Given the description of an element on the screen output the (x, y) to click on. 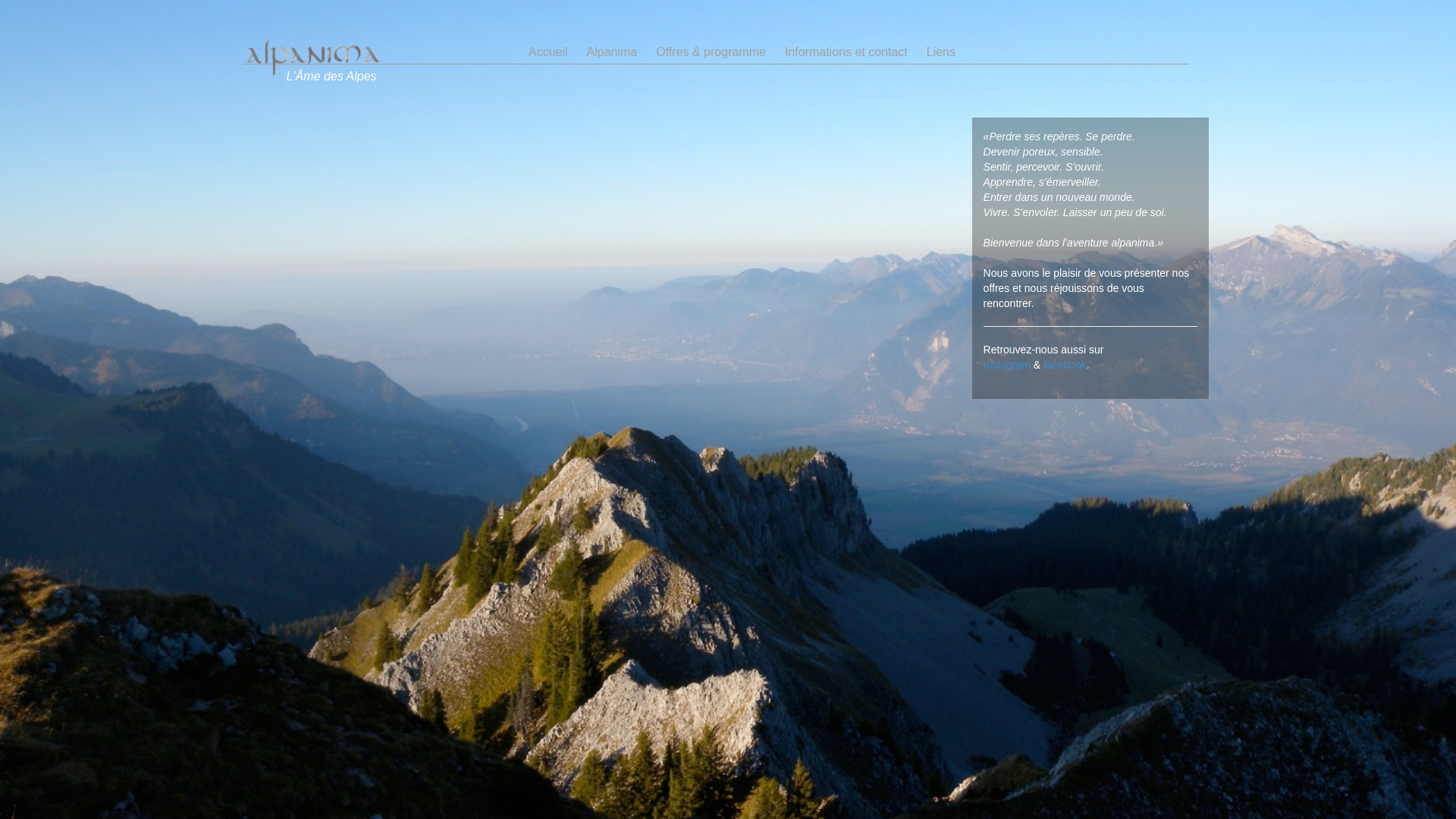
Offres & programme Element type: text (710, 51)
Liens Element type: text (940, 51)
Accueil Element type: text (547, 51)
Instagram Element type: text (1006, 364)
Informations et contact Element type: text (845, 51)
Alpanima Element type: text (611, 51)
facebook Element type: text (1064, 364)
